Given the description of an element on the screen output the (x, y) to click on. 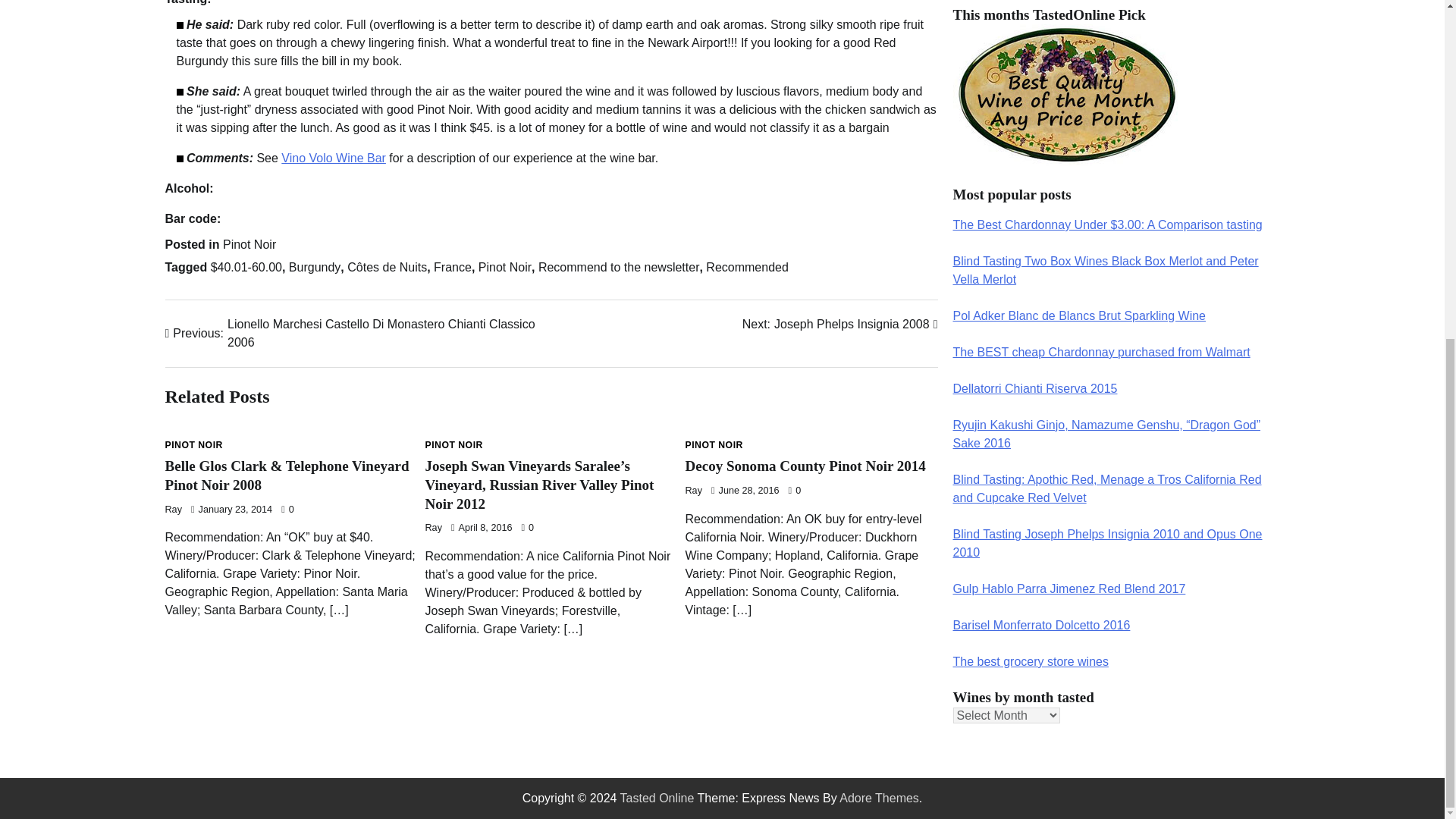
Pinot Noir (505, 267)
PINOT NOIR (453, 444)
Pinot Noir (249, 244)
Ray (173, 509)
Recommend to the newsletter (619, 267)
PINOT NOIR (193, 444)
Recommended (747, 267)
Burgundy (314, 267)
France (452, 267)
Vino Volo Wine Bar (333, 157)
